Given the description of an element on the screen output the (x, y) to click on. 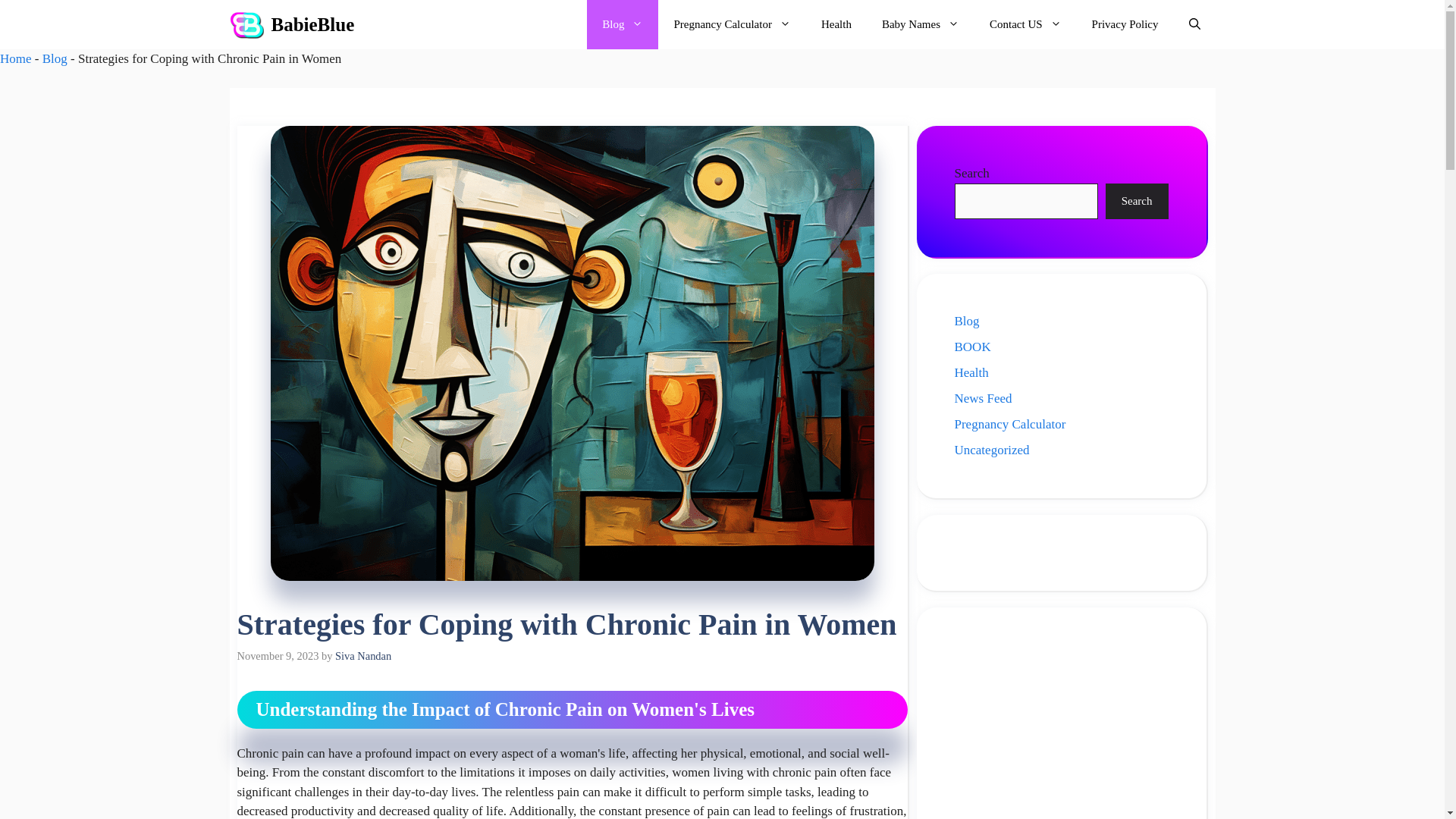
Contact US (1025, 24)
Pregnancy Calculator (732, 24)
BabieBlue (245, 24)
Privacy Policy (1125, 24)
BabieBlue (312, 24)
Blog (622, 24)
Baby Names (920, 24)
Health (836, 24)
View all posts by Siva Nandan (362, 655)
